Given the description of an element on the screen output the (x, y) to click on. 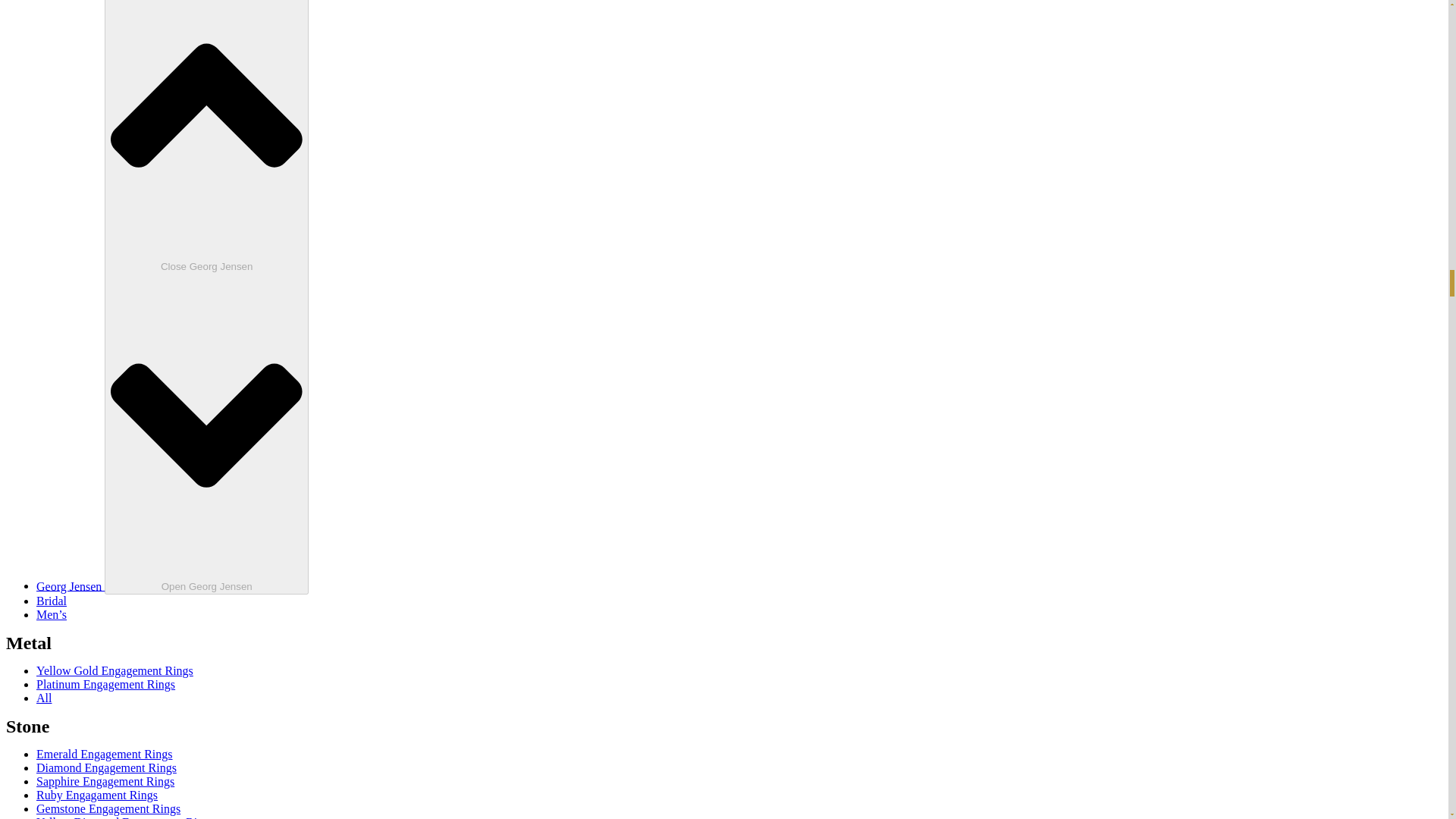
All (43, 697)
Platinum Engagement Rings (105, 684)
Bridal (51, 600)
Sapphire Engagement Rings (105, 780)
Georg Jensen (70, 585)
Yellow Gold Engagement Rings (114, 670)
Diamond Engagement Rings (106, 767)
Emerald Engagement Rings (104, 753)
